Given the description of an element on the screen output the (x, y) to click on. 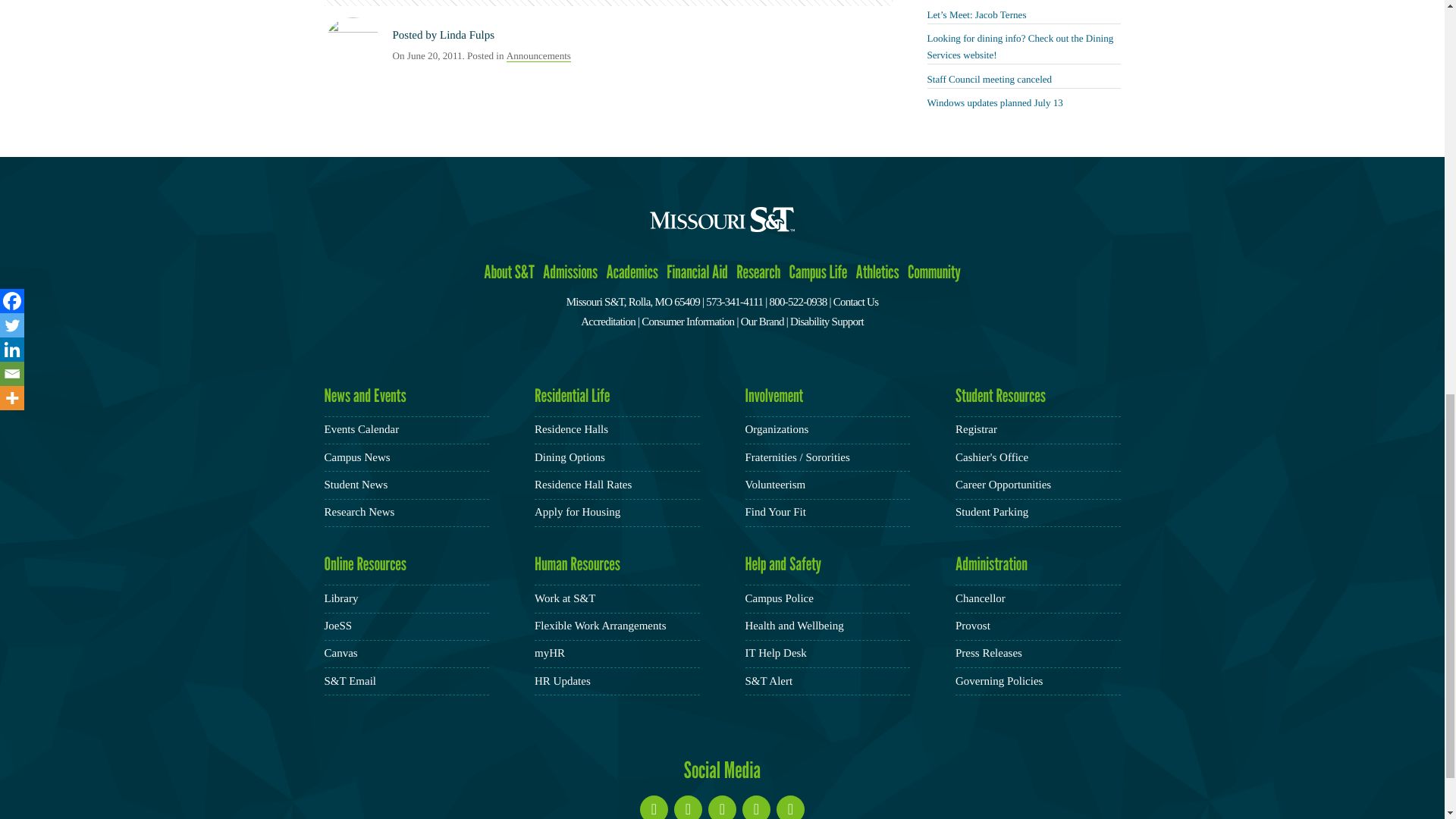
Posts by Linda Fulps (467, 35)
